Given the description of an element on the screen output the (x, y) to click on. 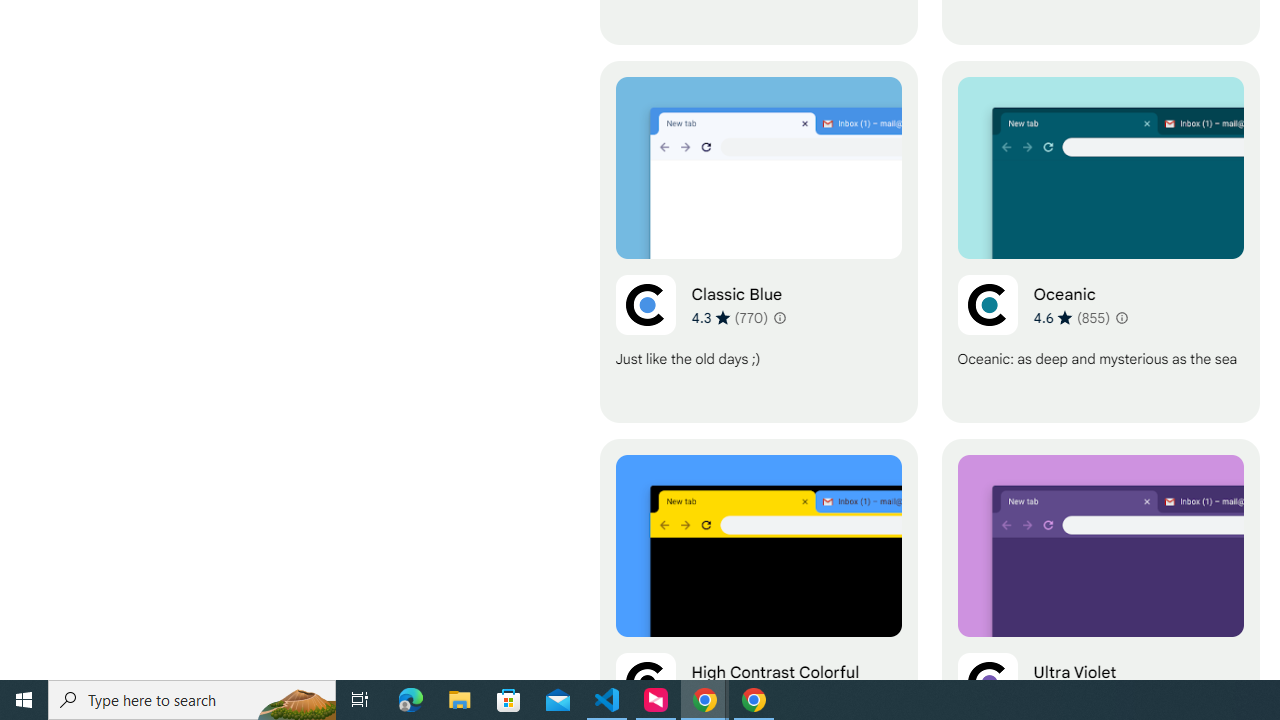
Learn more about results and reviews "Classic Blue" (778, 317)
Oceanic (1099, 242)
Average rating 4.6 out of 5 stars. 855 ratings. (1071, 317)
Learn more about results and reviews "Oceanic" (1120, 317)
Average rating 4.3 out of 5 stars. 770 ratings. (730, 317)
Classic Blue (758, 242)
